Given the description of an element on the screen output the (x, y) to click on. 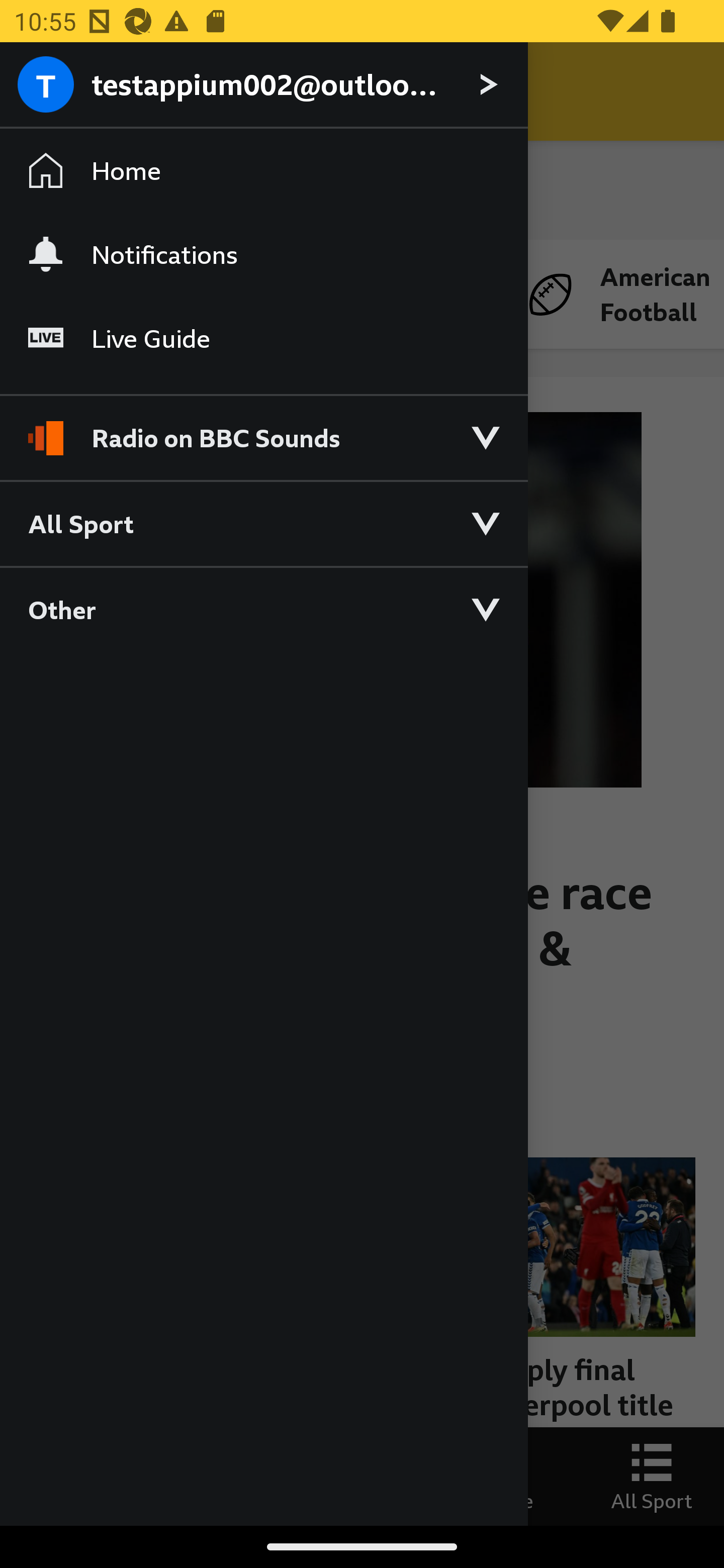
testappium002@outlook.com (263, 85)
Home (263, 170)
Notifications (263, 253)
Live Guide (263, 338)
Radio on BBC Sounds (263, 429)
All Sport (263, 522)
Other (263, 609)
